Given the description of an element on the screen output the (x, y) to click on. 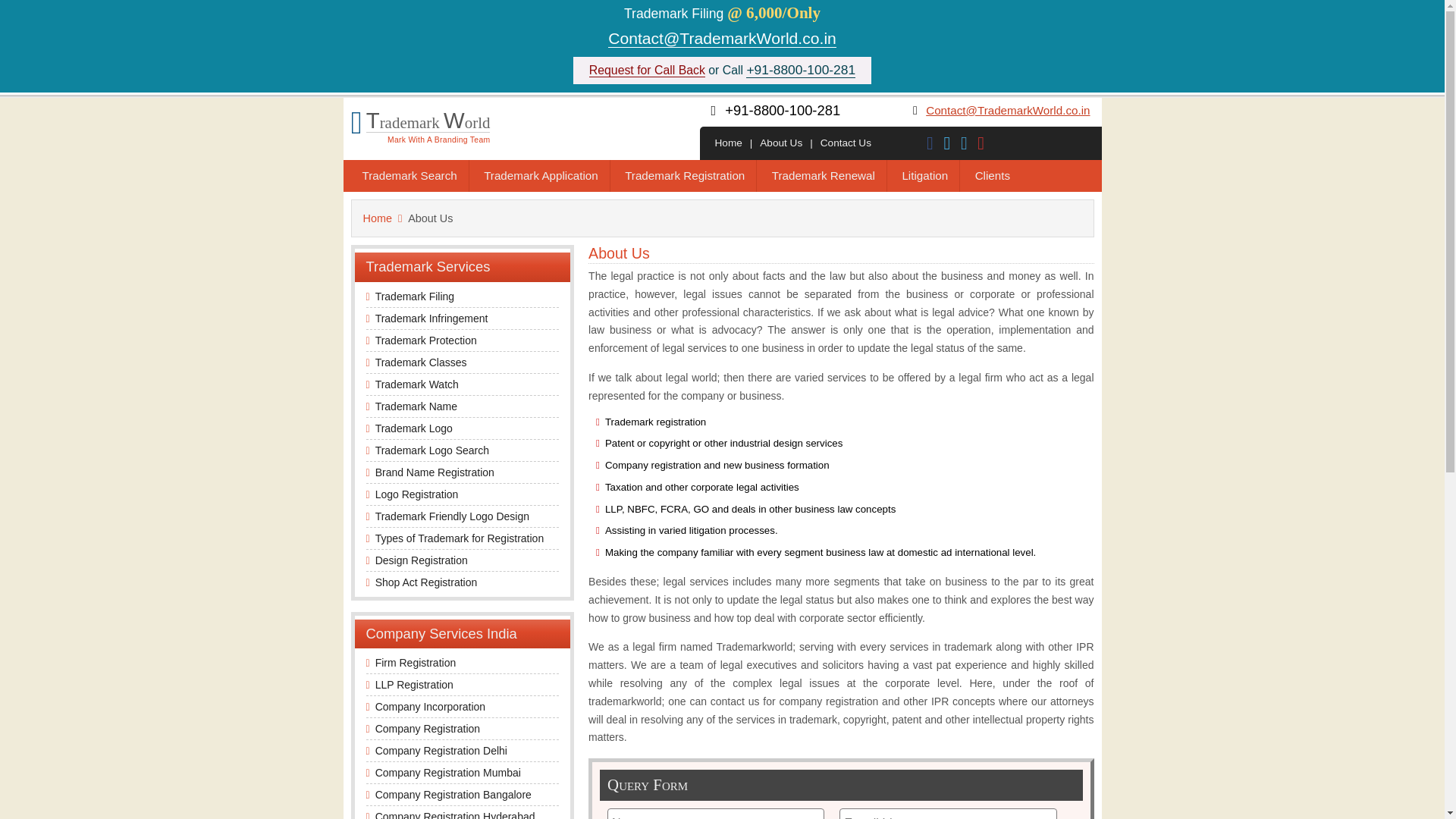
E-mail Id (948, 813)
Company Registration Mumbai (448, 772)
Company Incorporation (430, 706)
Home (727, 142)
Trademark Infringement (431, 318)
LLP Registration (413, 684)
Request for Call Back (646, 69)
Home (376, 218)
Trademark Name (416, 406)
Shop Act Registration (426, 582)
Mark With A Branding Team (438, 137)
Clients (992, 174)
Design Registration (421, 560)
Trademark Renewal (823, 174)
Trademark Logo Search (432, 450)
